Given the description of an element on the screen output the (x, y) to click on. 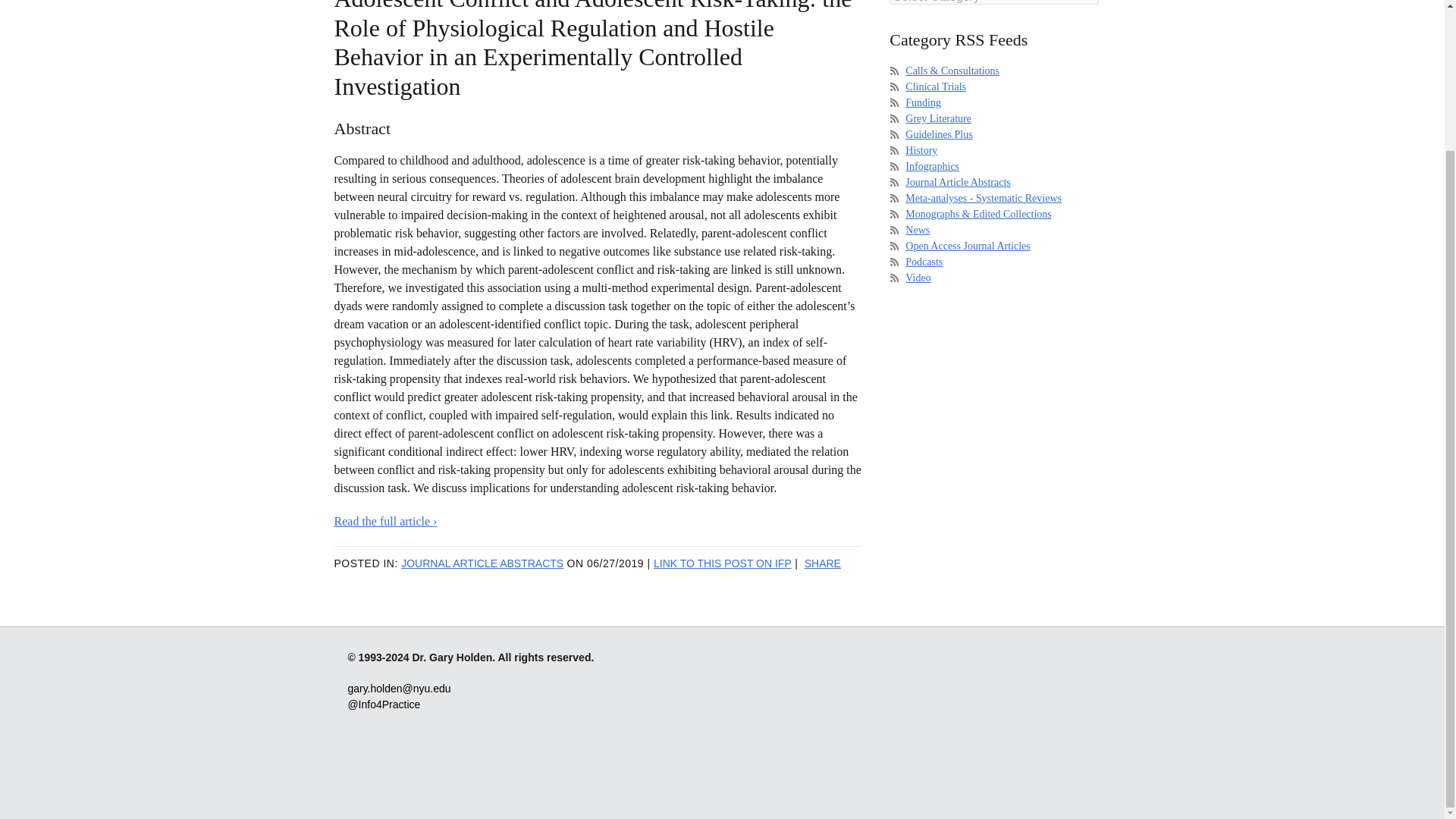
Meta-analyses - Systematic Reviews (983, 197)
JOURNAL ARTICLE ABSTRACTS (482, 563)
History (921, 150)
Grey Literature (938, 118)
SHARE (823, 563)
Video (917, 277)
Journal Article Abstracts (957, 182)
News (917, 229)
Podcasts (923, 261)
Funding (922, 102)
LINK TO THIS POST ON IFP (722, 563)
Infographics (932, 165)
Open Access Journal Articles (967, 245)
Clinical Trials (935, 86)
